Given the description of an element on the screen output the (x, y) to click on. 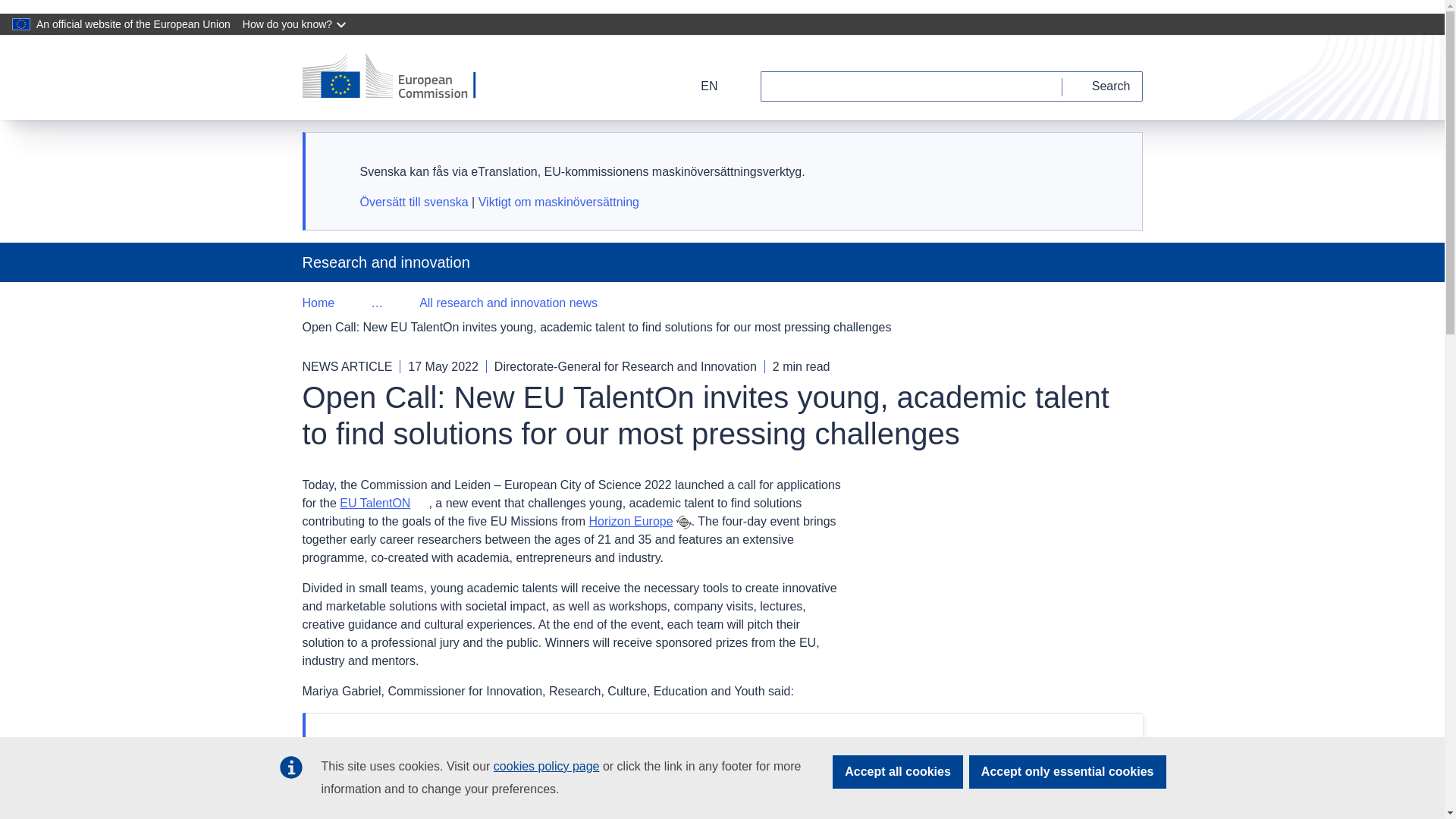
Horizon Europe (630, 521)
Home (317, 303)
EN (699, 86)
Accept all cookies (897, 771)
All research and innovation news (507, 303)
EU TalentON (383, 502)
Search (1102, 86)
cookies policy page (546, 766)
How do you know? (295, 24)
European Commission (399, 77)
